Given the description of an element on the screen output the (x, y) to click on. 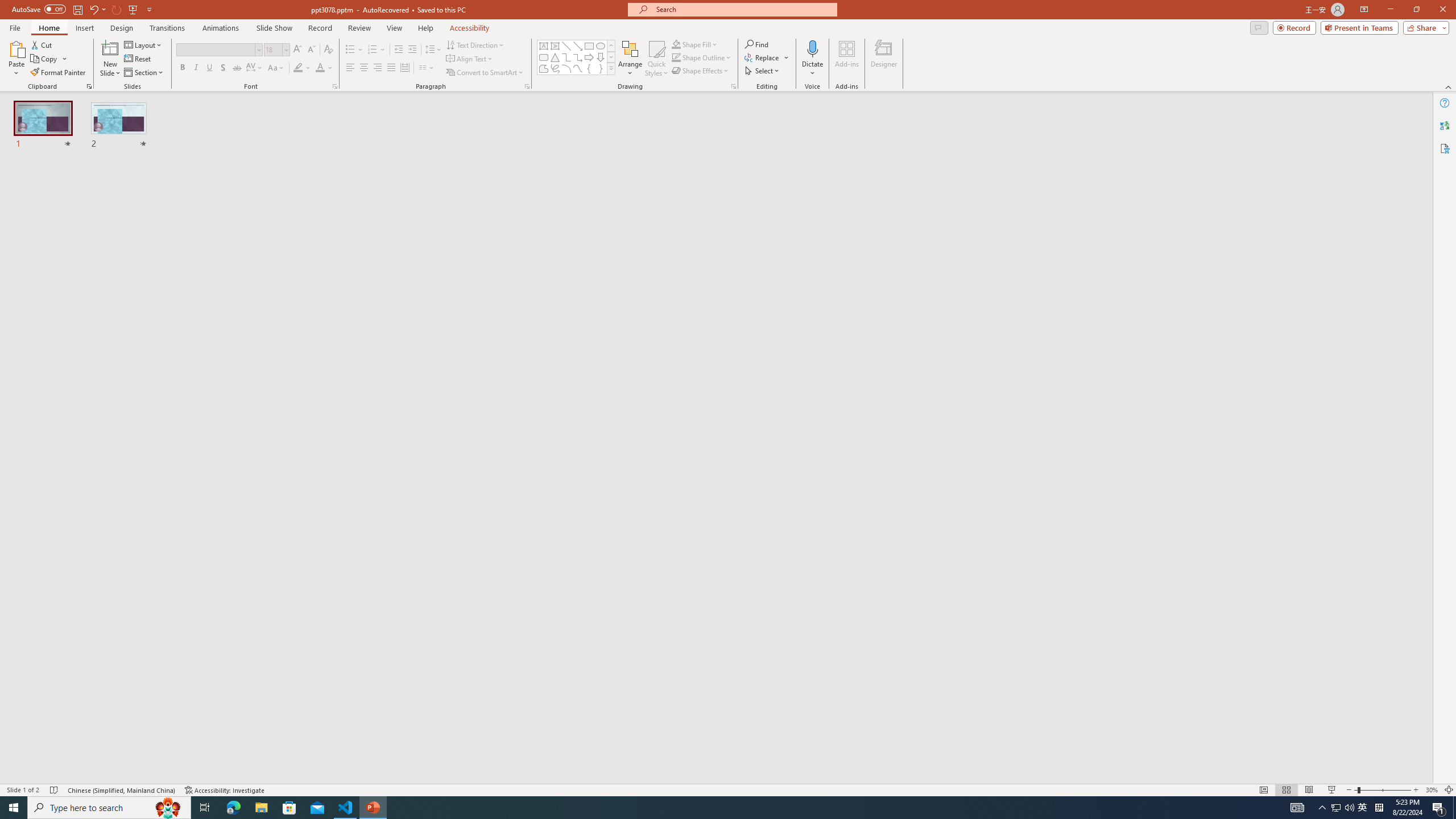
Character Spacing (254, 67)
Arrange (630, 58)
Cut (42, 44)
Find... (756, 44)
Isosceles Triangle (554, 57)
Arrow: Right (589, 57)
